Given the description of an element on the screen output the (x, y) to click on. 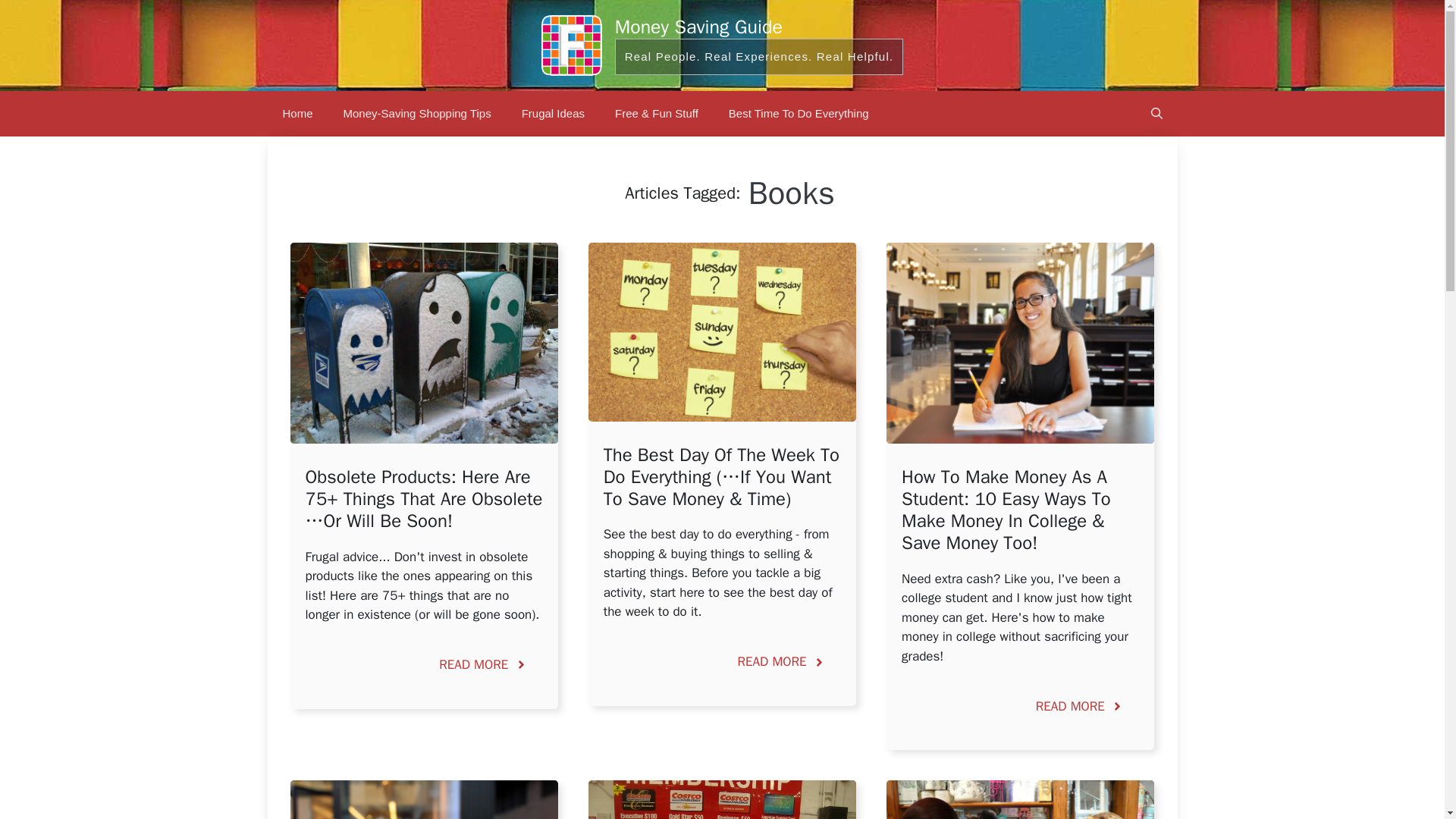
Home (296, 113)
READ MORE (483, 664)
Frugal Ideas (552, 113)
Money Saving Guide (698, 26)
READ MORE (781, 661)
READ MORE (1080, 706)
Best Time To Do Everything (798, 113)
Money-Saving Shopping Tips (417, 113)
